Given the description of an element on the screen output the (x, y) to click on. 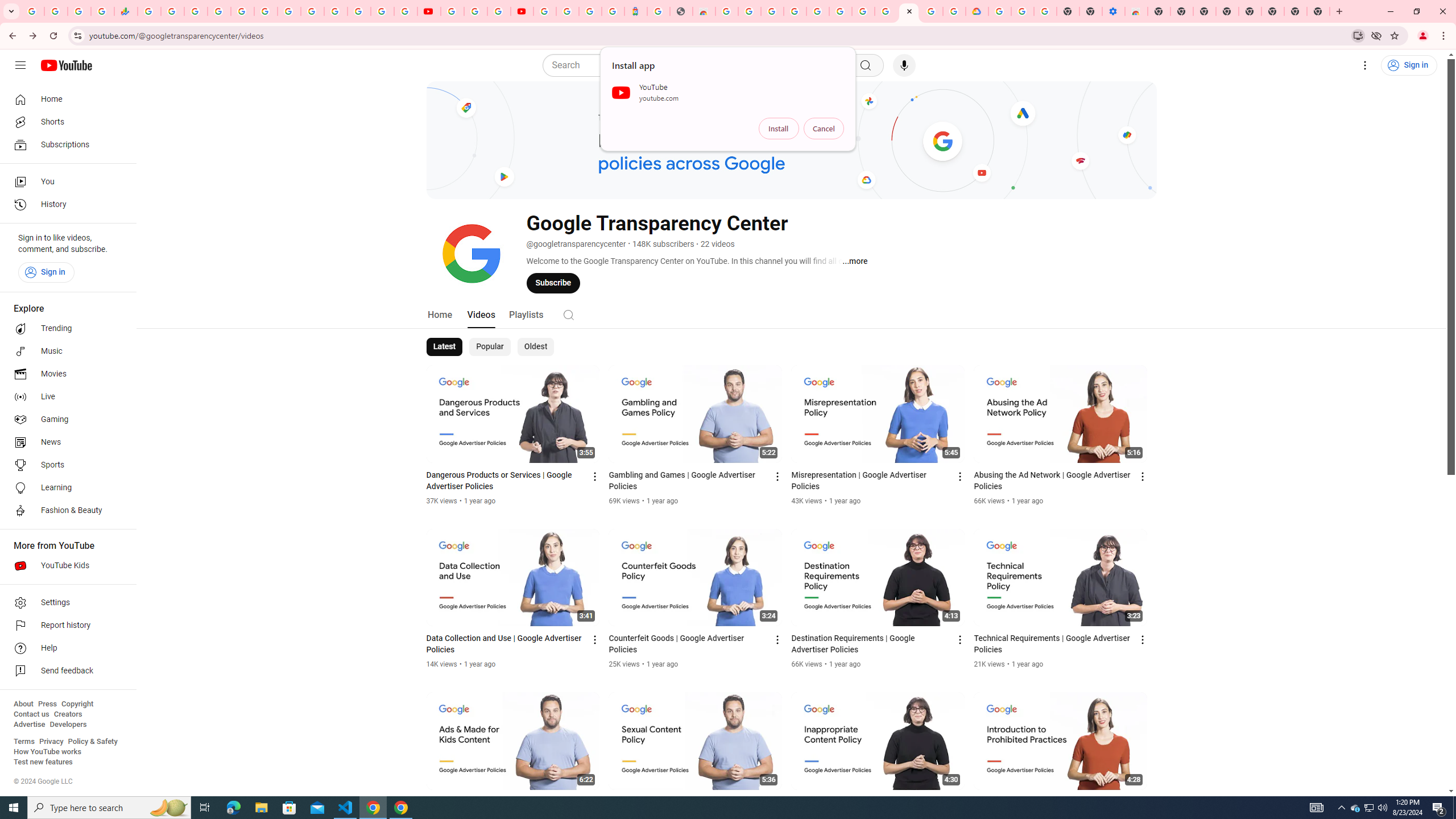
Test new features (42, 761)
Live (64, 396)
Google Account Help (1022, 11)
New Tab (1318, 11)
Playlists (525, 314)
Report history (64, 625)
Shorts (64, 121)
Install (778, 128)
YouTube Home (66, 65)
Privacy (51, 741)
